Given the description of an element on the screen output the (x, y) to click on. 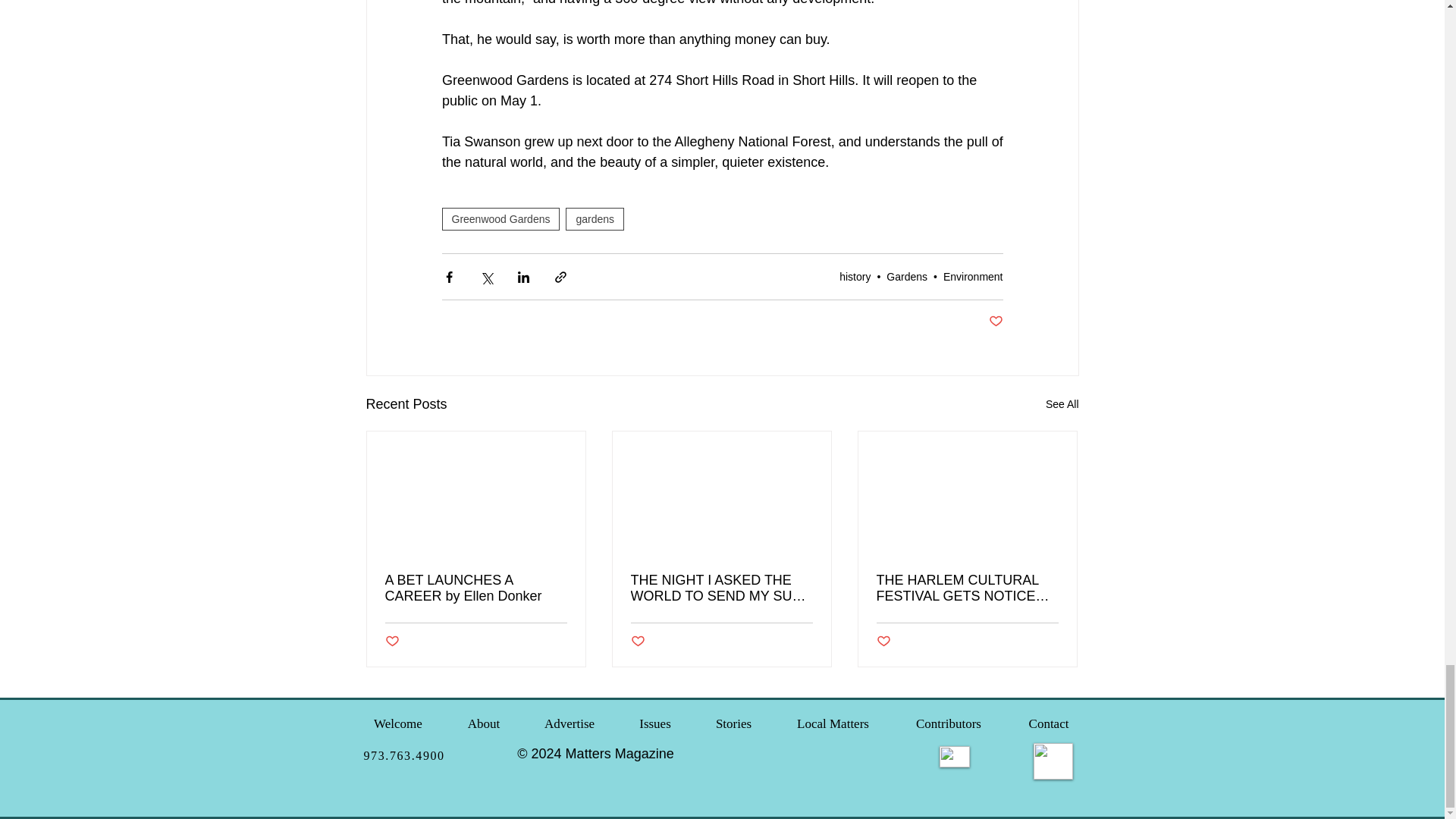
web logo with type 10 stroke.jpg (1051, 760)
